Given the description of an element on the screen output the (x, y) to click on. 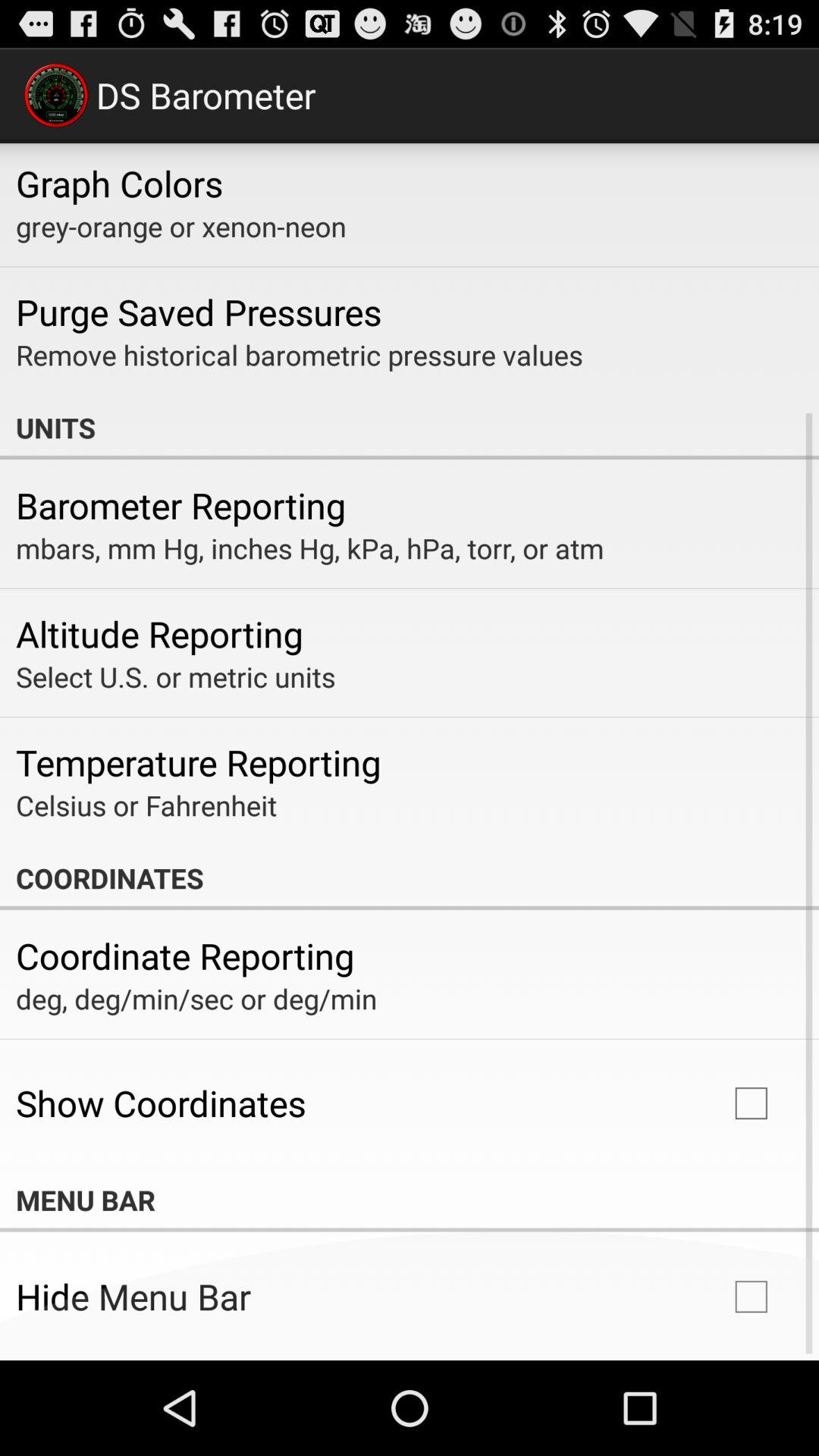
launch grey orange or (180, 226)
